Given the description of an element on the screen output the (x, y) to click on. 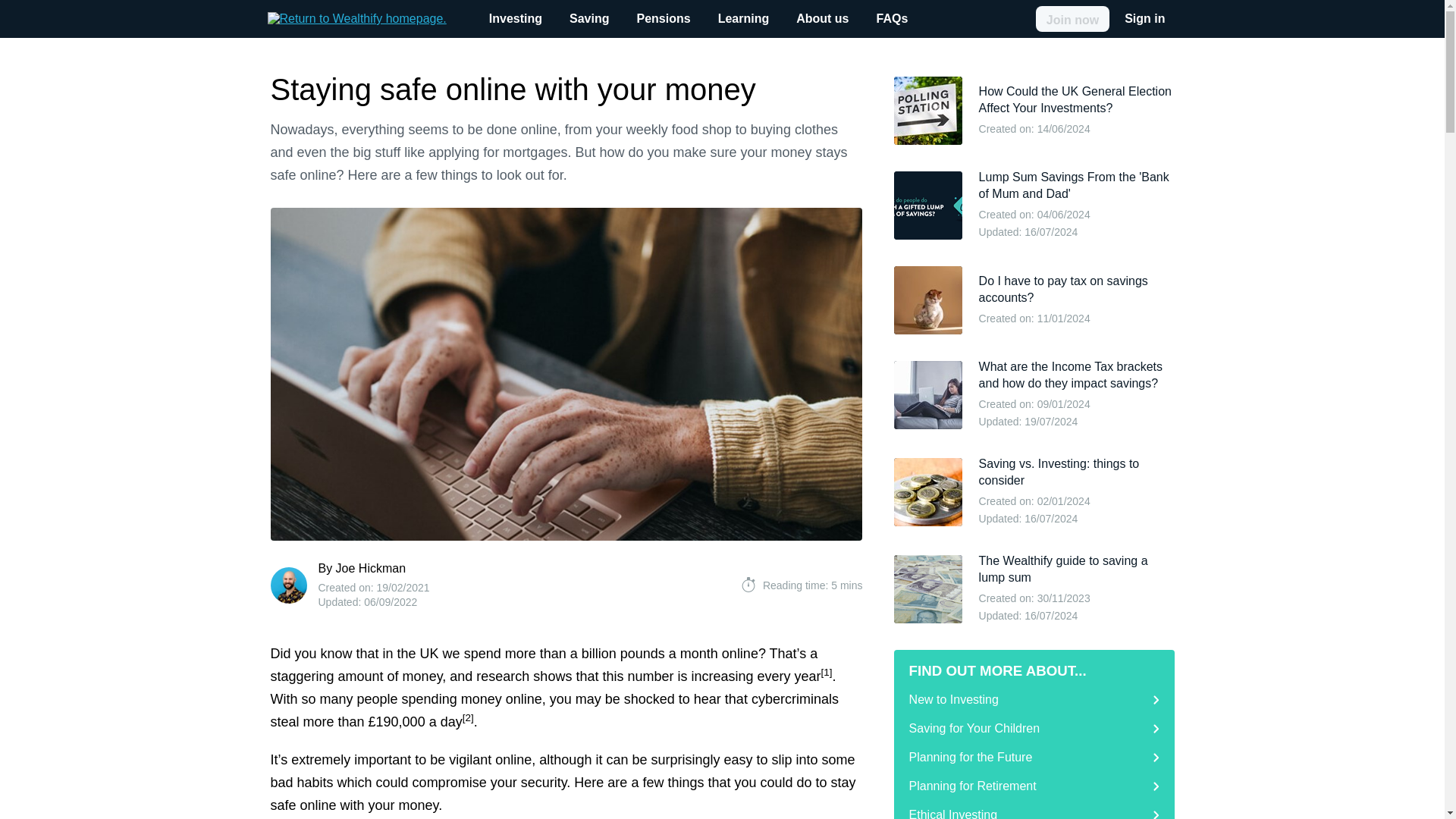
Pensions (662, 18)
Saving (589, 18)
Learning (743, 18)
Investing (515, 18)
